Given the description of an element on the screen output the (x, y) to click on. 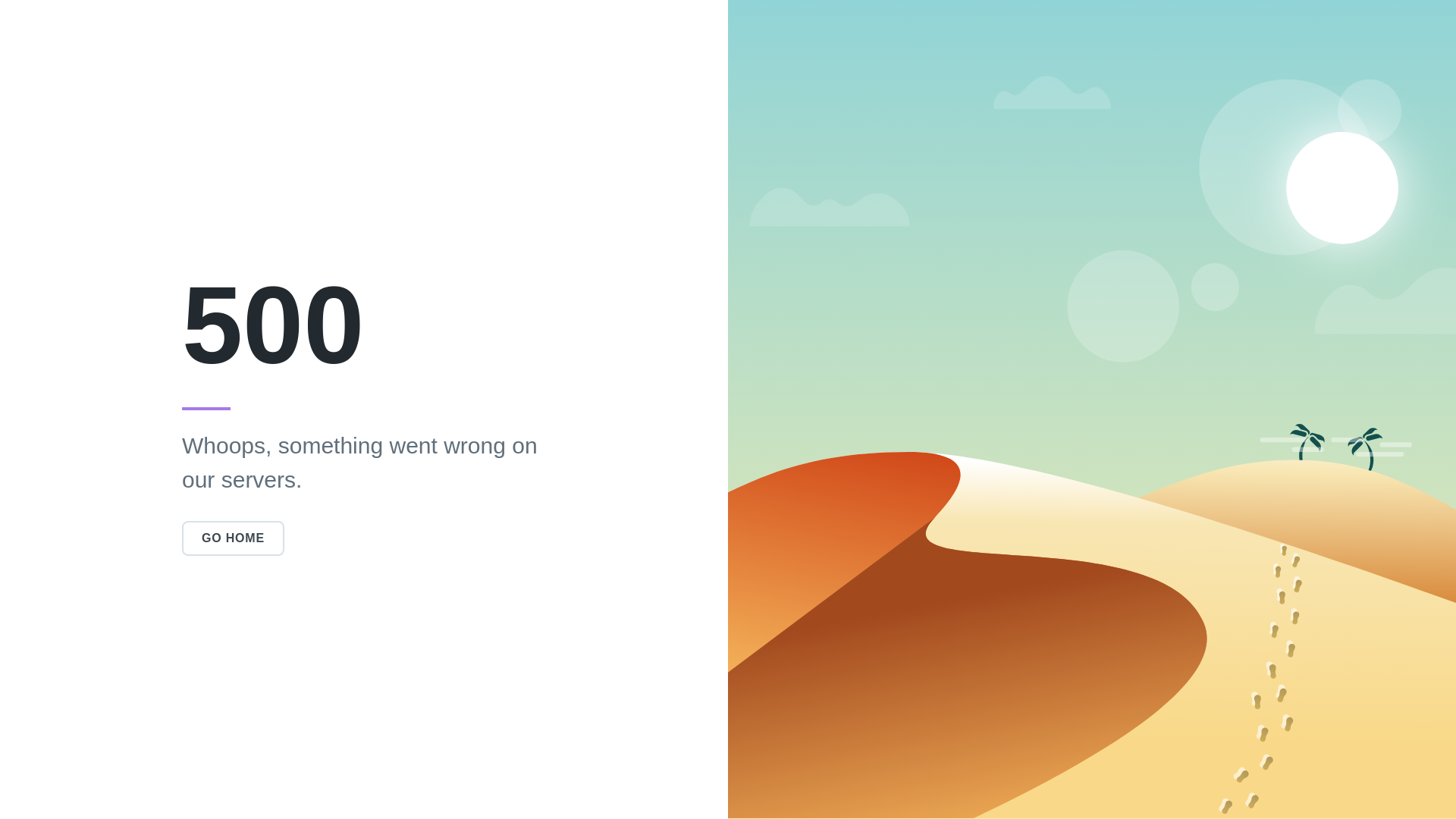
GO HOME Element type: text (233, 537)
GO HOME Element type: text (233, 537)
